Given the description of an element on the screen output the (x, y) to click on. 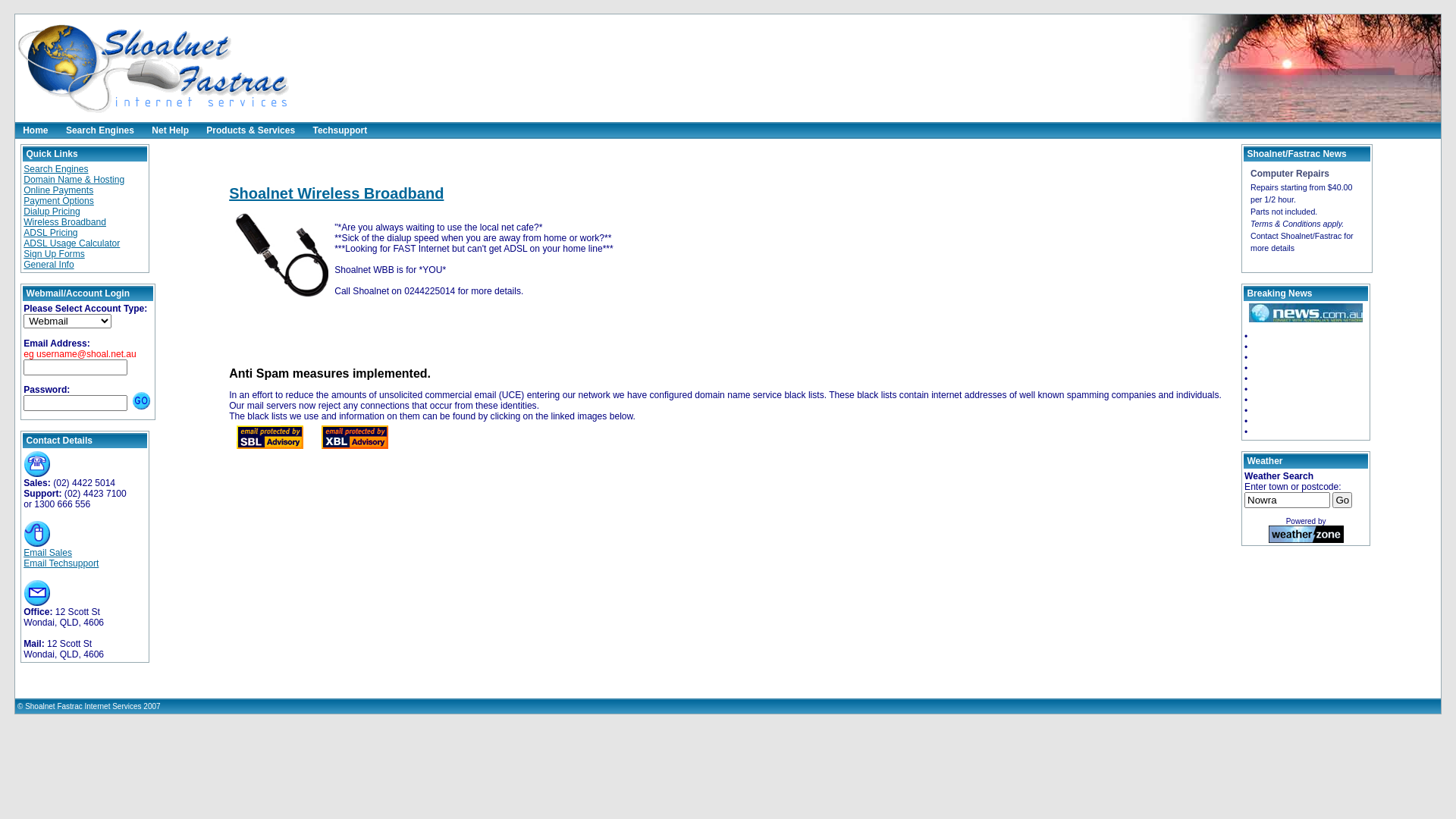
Payment Options Element type: text (58, 200)
Products & Services Element type: text (250, 130)
Home Element type: text (35, 130)
Sign Up Forms Element type: text (53, 253)
Techsupport Element type: text (339, 130)
ADSL Pricing Element type: text (50, 232)
Search Engines Element type: text (99, 130)
Domain Name & Hosting Element type: text (73, 179)
General Info Element type: text (48, 264)
Shoalnet Wireless Broadband Element type: text (336, 193)
Search Engines Element type: text (55, 168)
Go Element type: text (1342, 500)
Email Sales Element type: text (47, 552)
Email Techsupport Element type: text (60, 563)
Wireless Broadband Element type: text (64, 221)
Online Payments Element type: text (58, 190)
ADSL Usage Calculator Element type: text (71, 243)
Dialup Pricing Element type: text (51, 211)
Net Help Element type: text (170, 130)
